Given the description of an element on the screen output the (x, y) to click on. 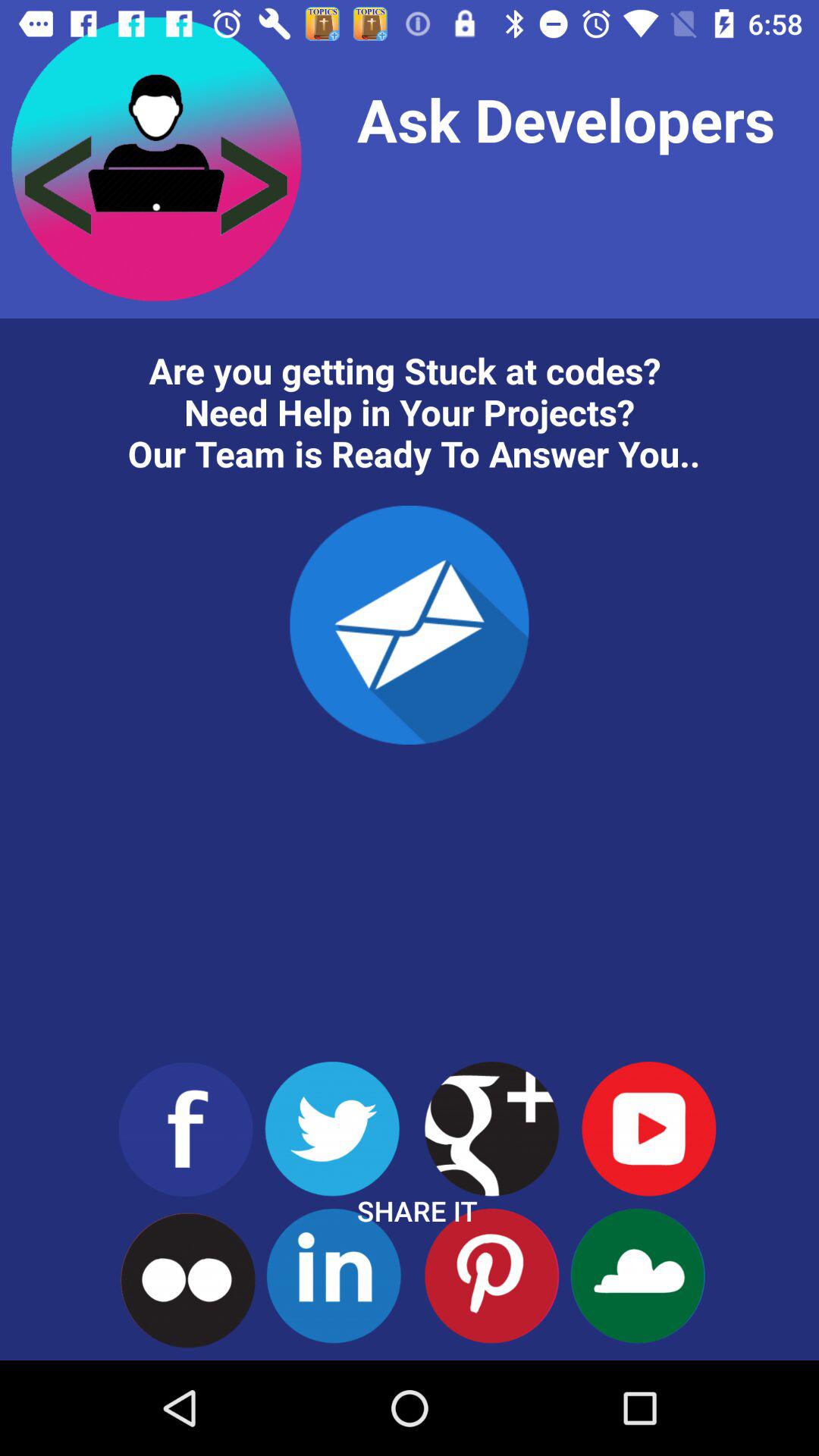
open item at the center (409, 624)
